Given the description of an element on the screen output the (x, y) to click on. 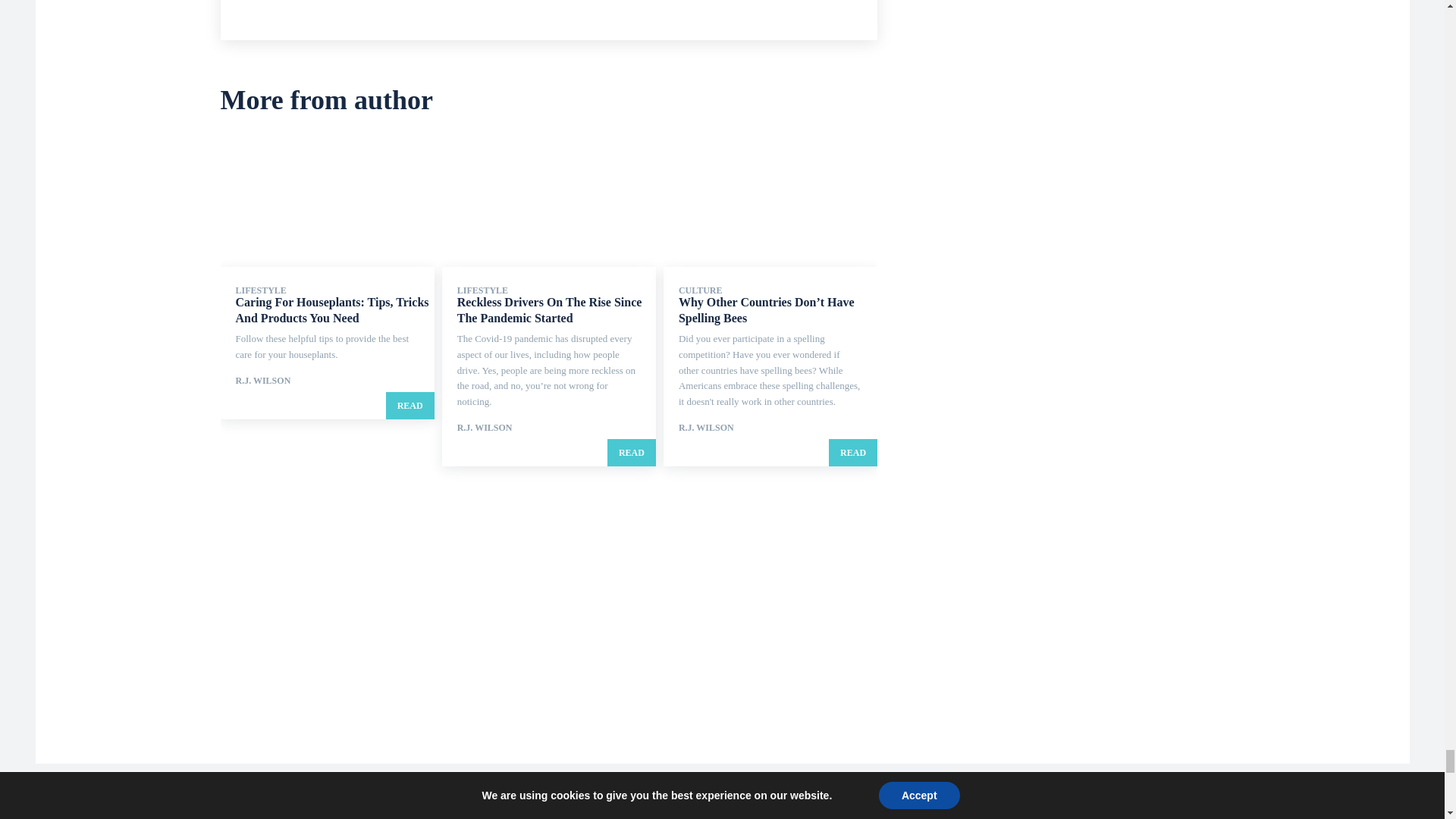
R.J. Wilson (432, 8)
Reckless Drivers On The Rise Since The Pandemic Started (549, 309)
Caring For Houseplants: Tips, Tricks And Products You Need (326, 202)
Caring For Houseplants: Tips, Tricks And Products You Need (331, 309)
Reckless Drivers On The Rise Since The Pandemic Started (549, 202)
